Given the description of an element on the screen output the (x, y) to click on. 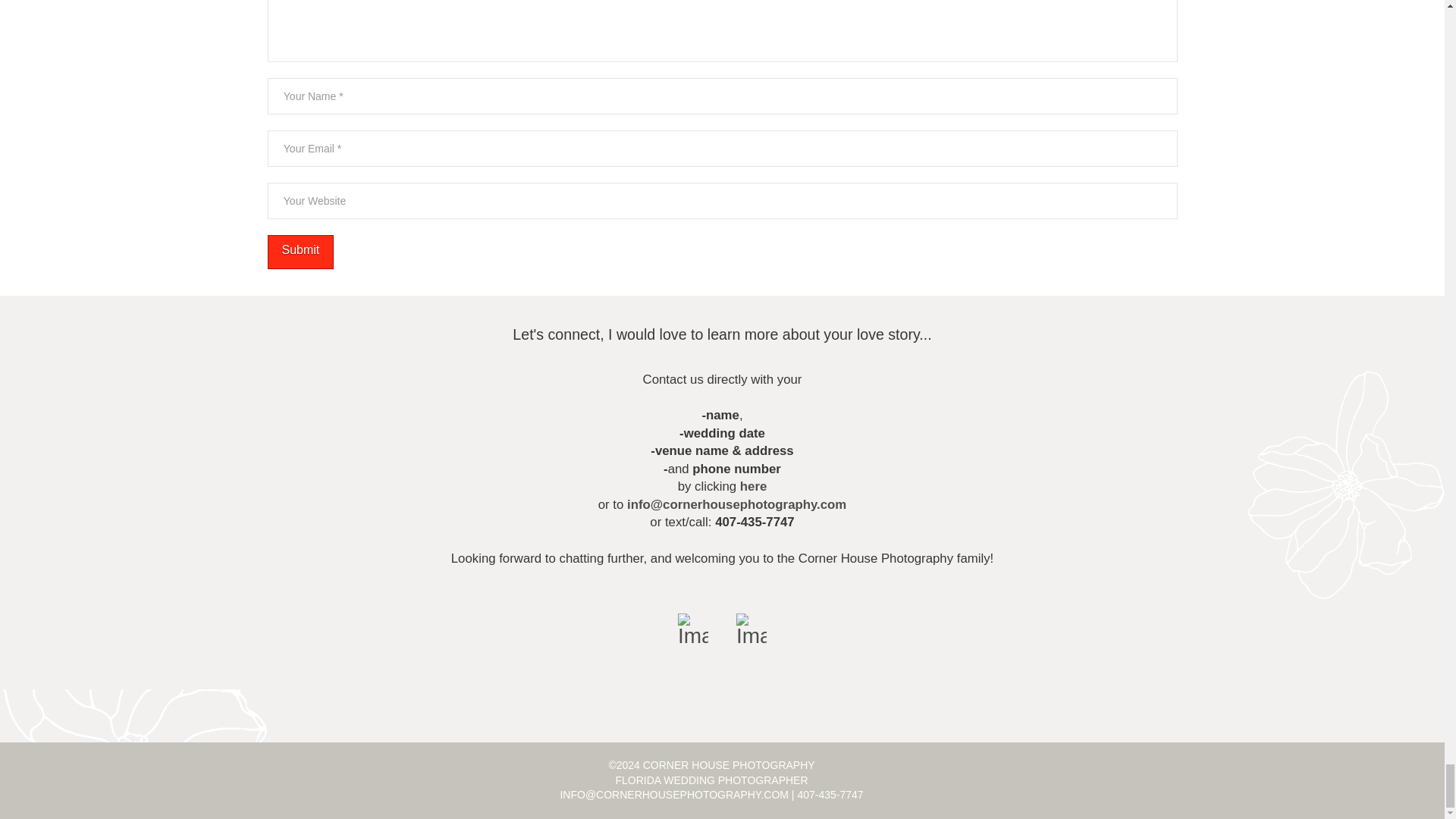
Submit (299, 252)
